Given the description of an element on the screen output the (x, y) to click on. 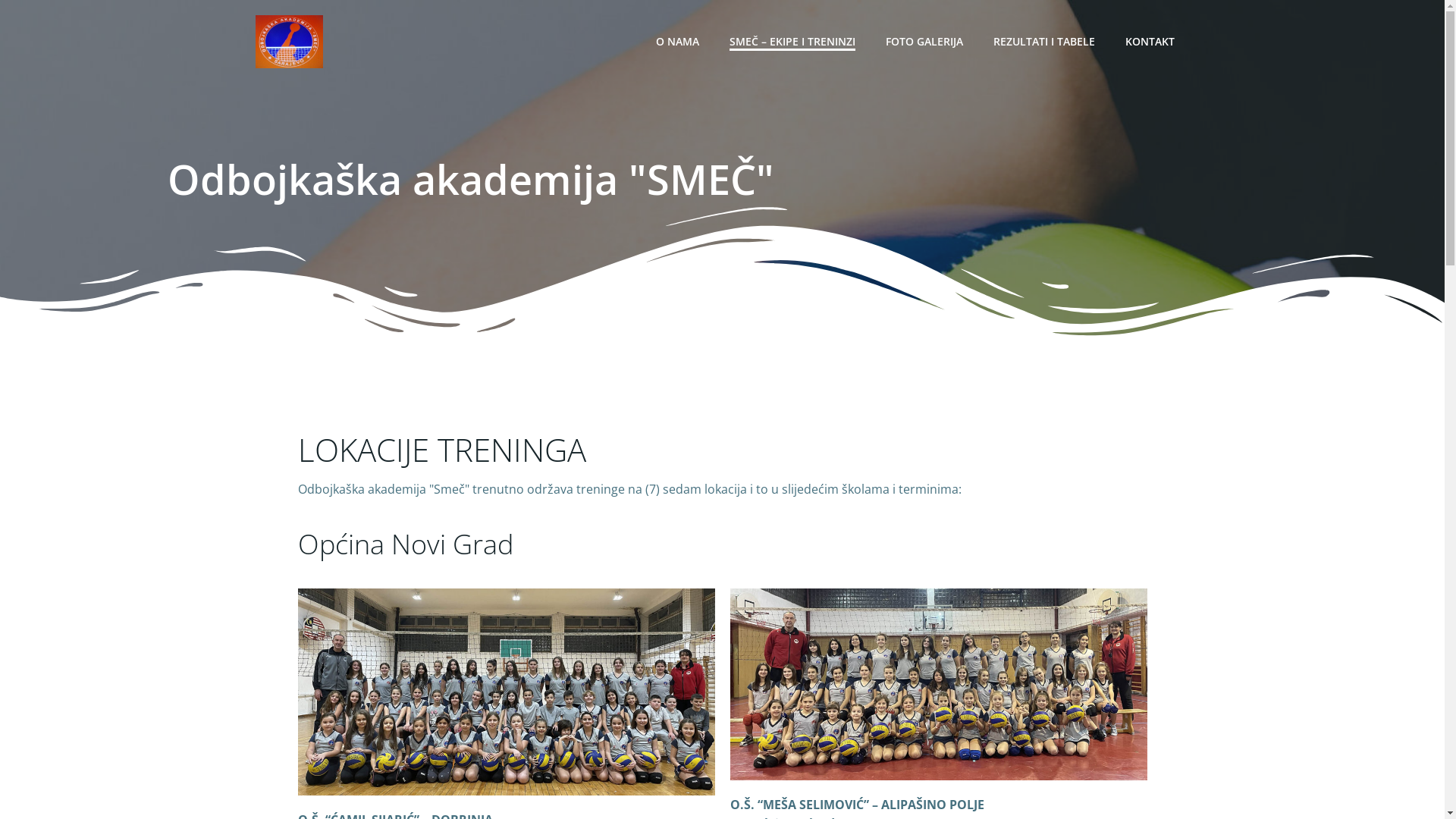
FOTO GALERIJA Element type: text (924, 41)
Colibri Element type: text (949, 773)
O NAMA Element type: text (676, 41)
KONTAKT Element type: text (1149, 41)
REZULTATI I TABELE Element type: text (1044, 41)
